Given the description of an element on the screen output the (x, y) to click on. 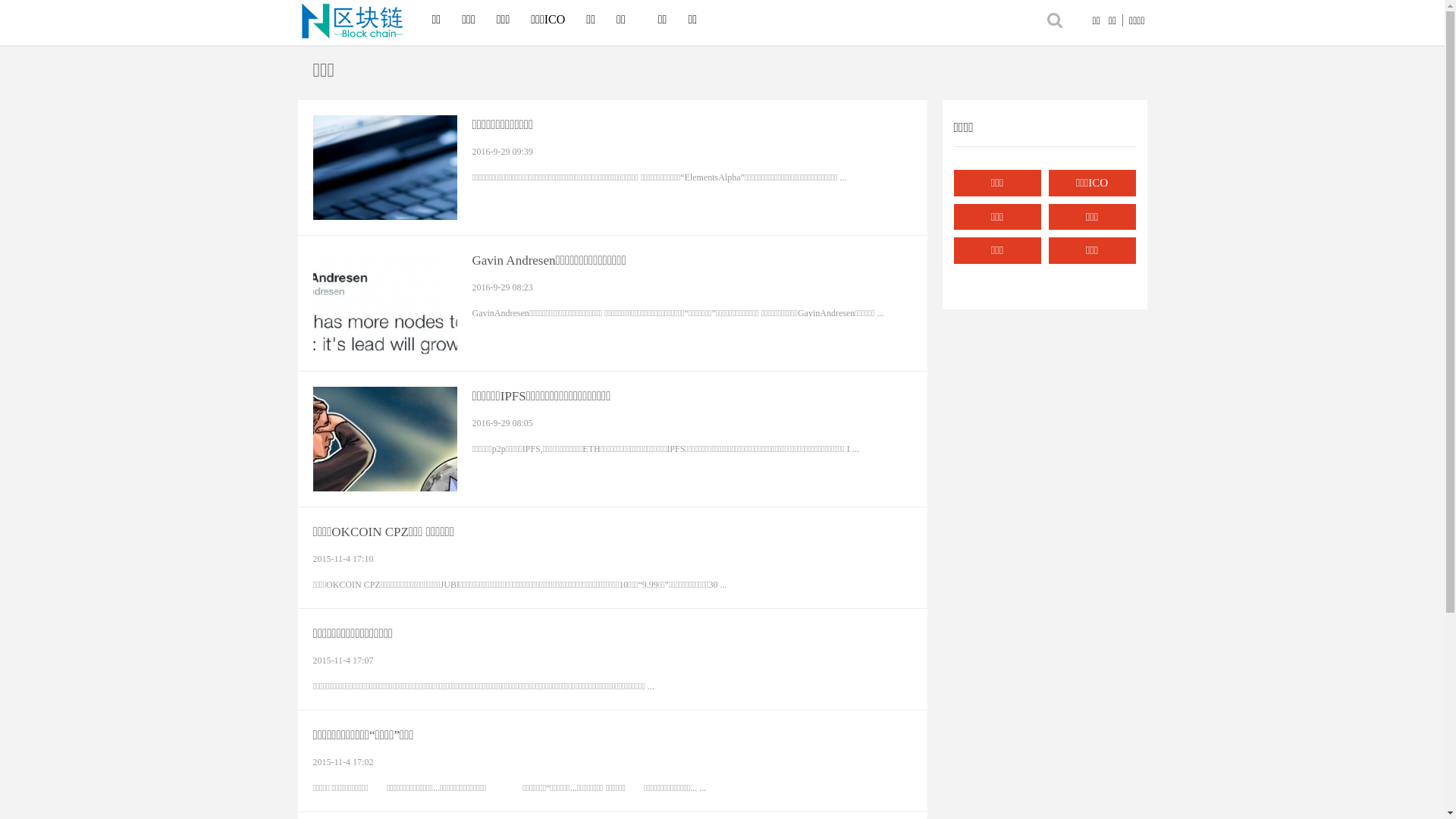
true Element type: text (1055, 19)
